Given the description of an element on the screen output the (x, y) to click on. 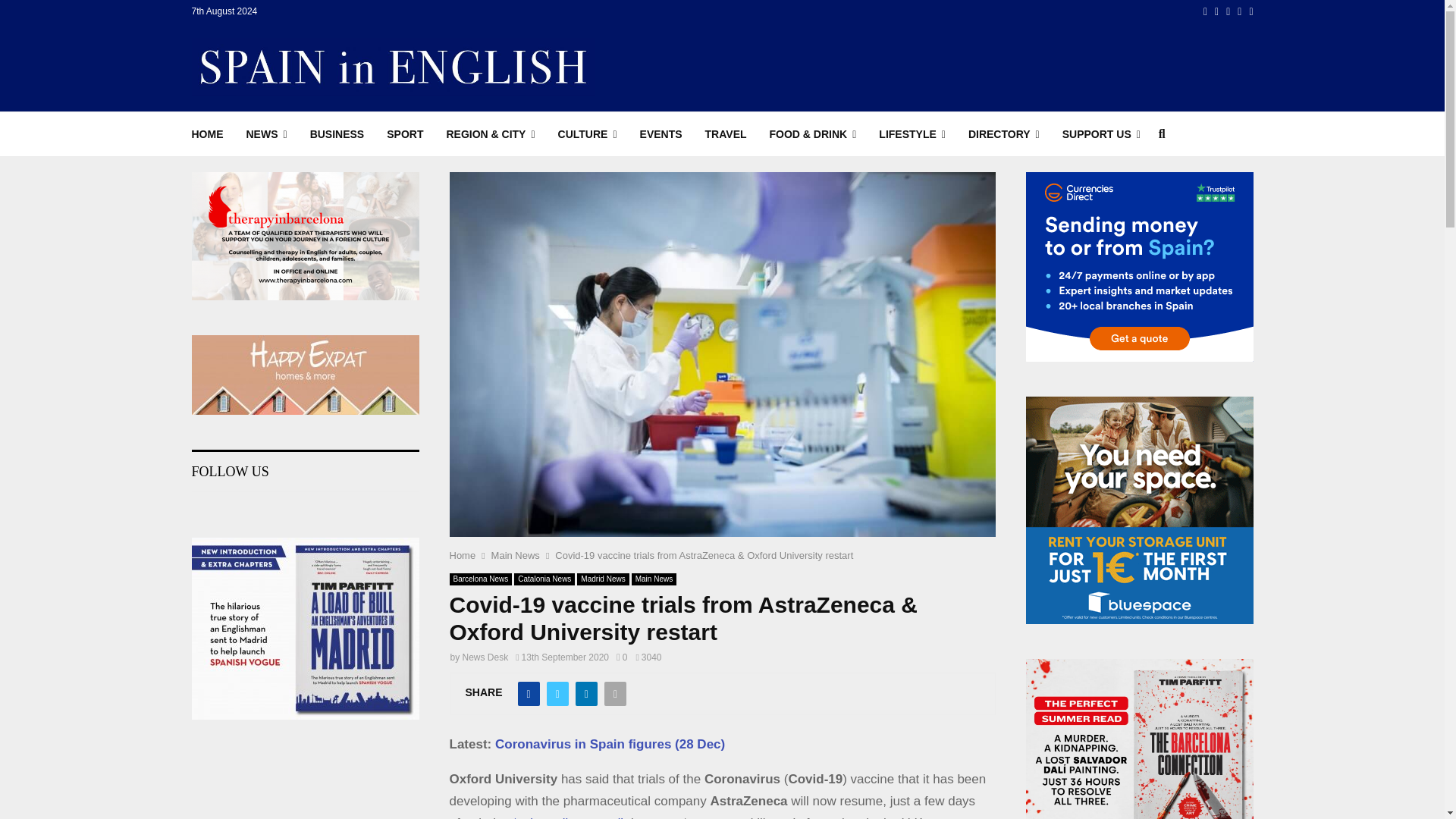
LIFESTYLE (911, 134)
Sign up new account (722, 527)
NEWS (266, 134)
CULTURE (587, 134)
BUSINESS (337, 134)
Login to your account (722, 293)
EVENTS (661, 134)
TRAVEL (725, 134)
